Given the description of an element on the screen output the (x, y) to click on. 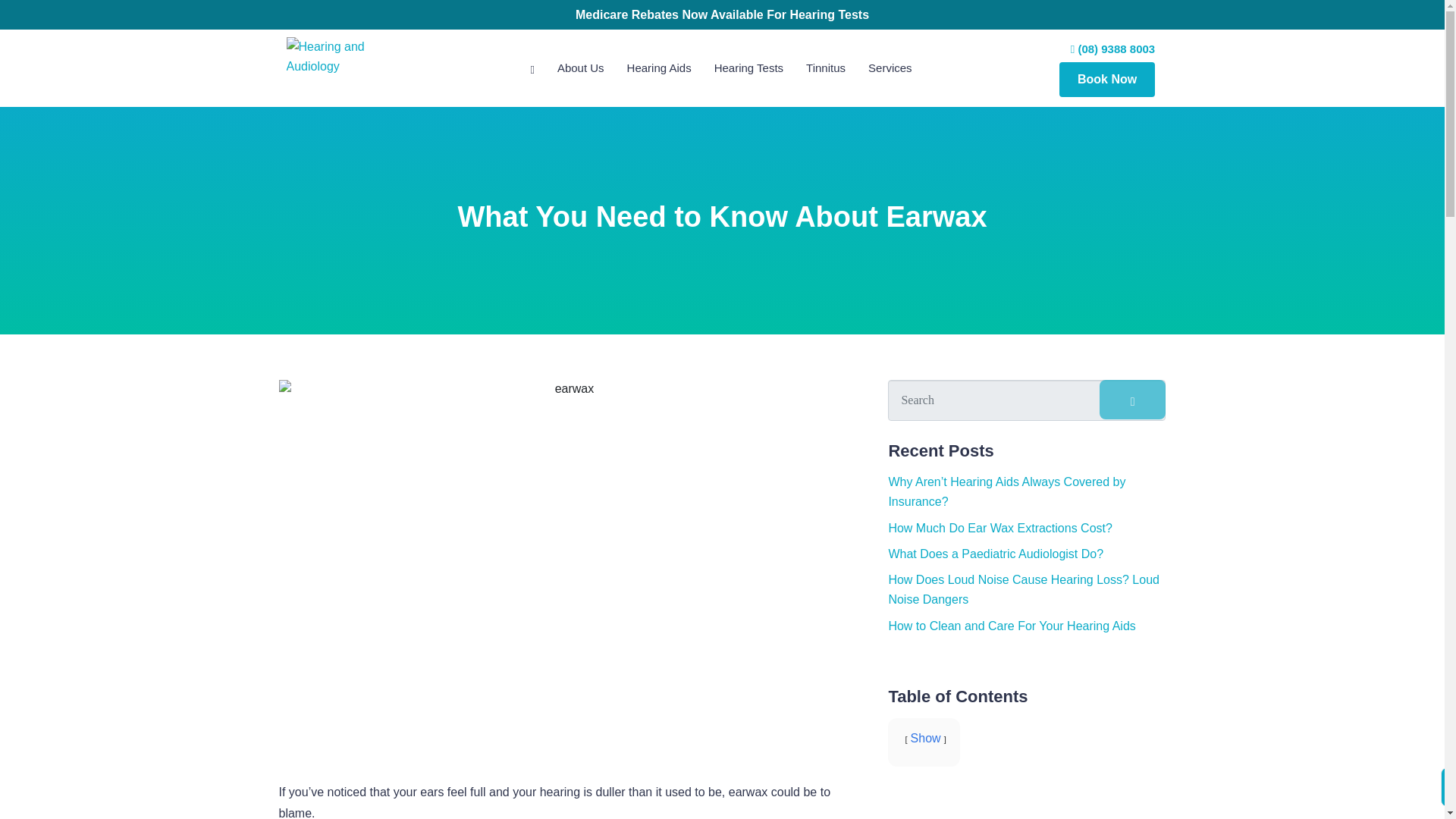
About Us (580, 67)
Hearing Tests (748, 67)
Services (889, 67)
Hearing Aids (659, 67)
Tinnitus (825, 67)
